Given the description of an element on the screen output the (x, y) to click on. 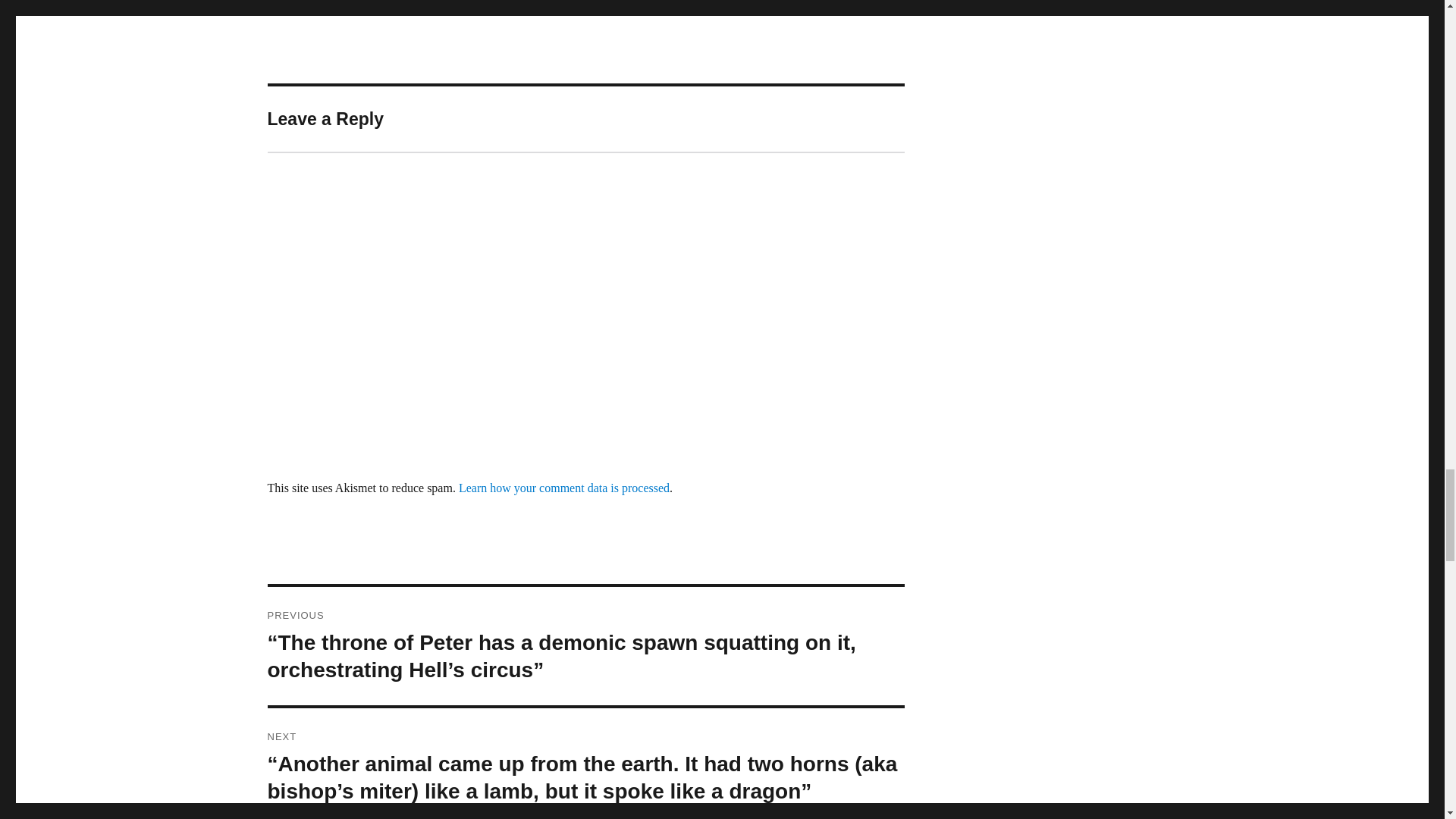
Learn how your comment data is processed (563, 487)
